Given the description of an element on the screen output the (x, y) to click on. 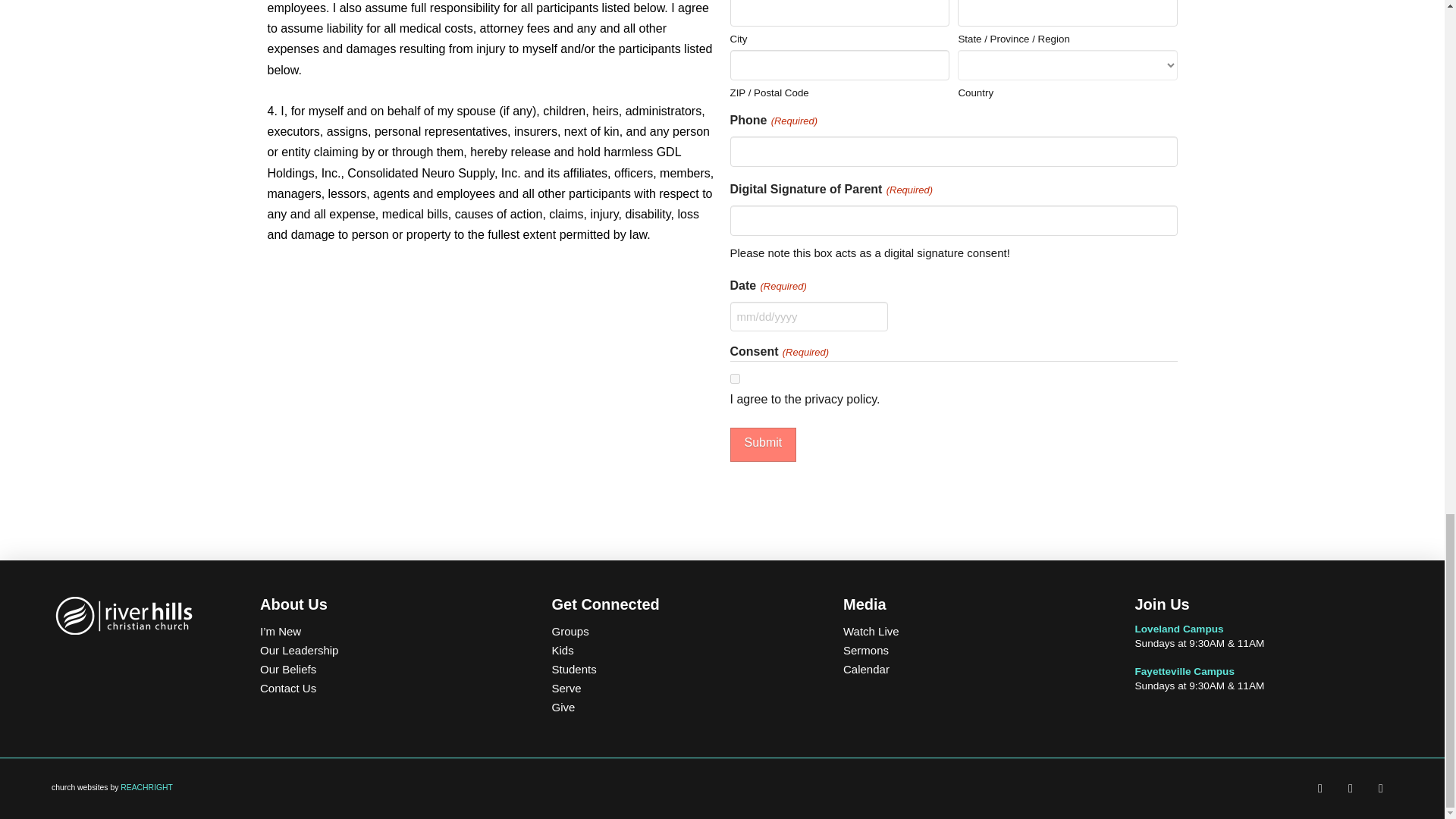
Watch Live (971, 630)
Contact Us (387, 687)
1 (734, 378)
Submit (762, 444)
Fayetteville Campus (1183, 671)
Give (679, 706)
Kids (679, 650)
REACHRIGHT (146, 786)
Our Leadership (387, 650)
Sermons (971, 650)
Serve (679, 687)
Loveland Campus (1178, 628)
Calendar (971, 669)
Groups (679, 630)
Our Beliefs (387, 669)
